Given the description of an element on the screen output the (x, y) to click on. 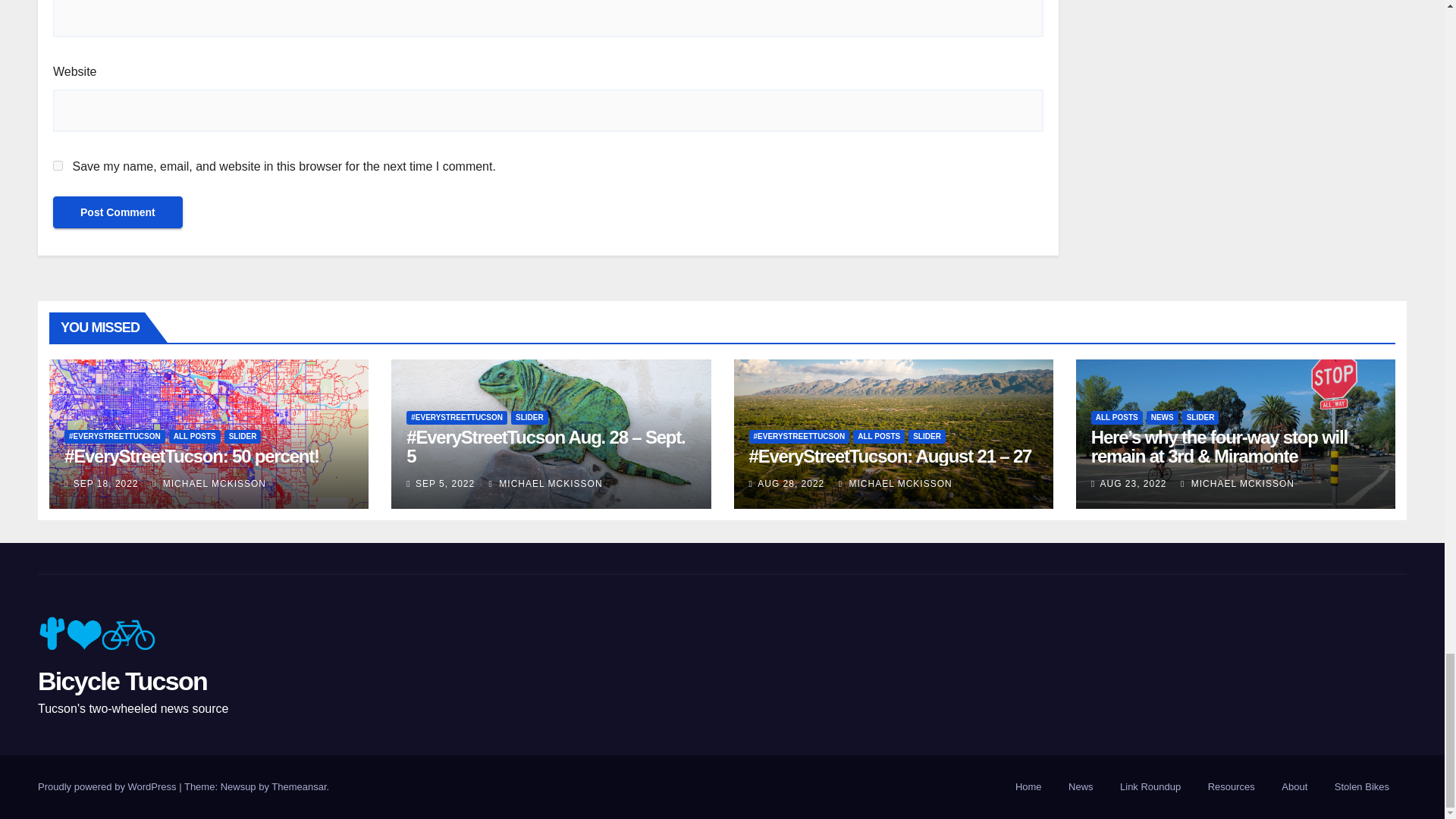
Post Comment (117, 212)
yes (57, 165)
